Given the description of an element on the screen output the (x, y) to click on. 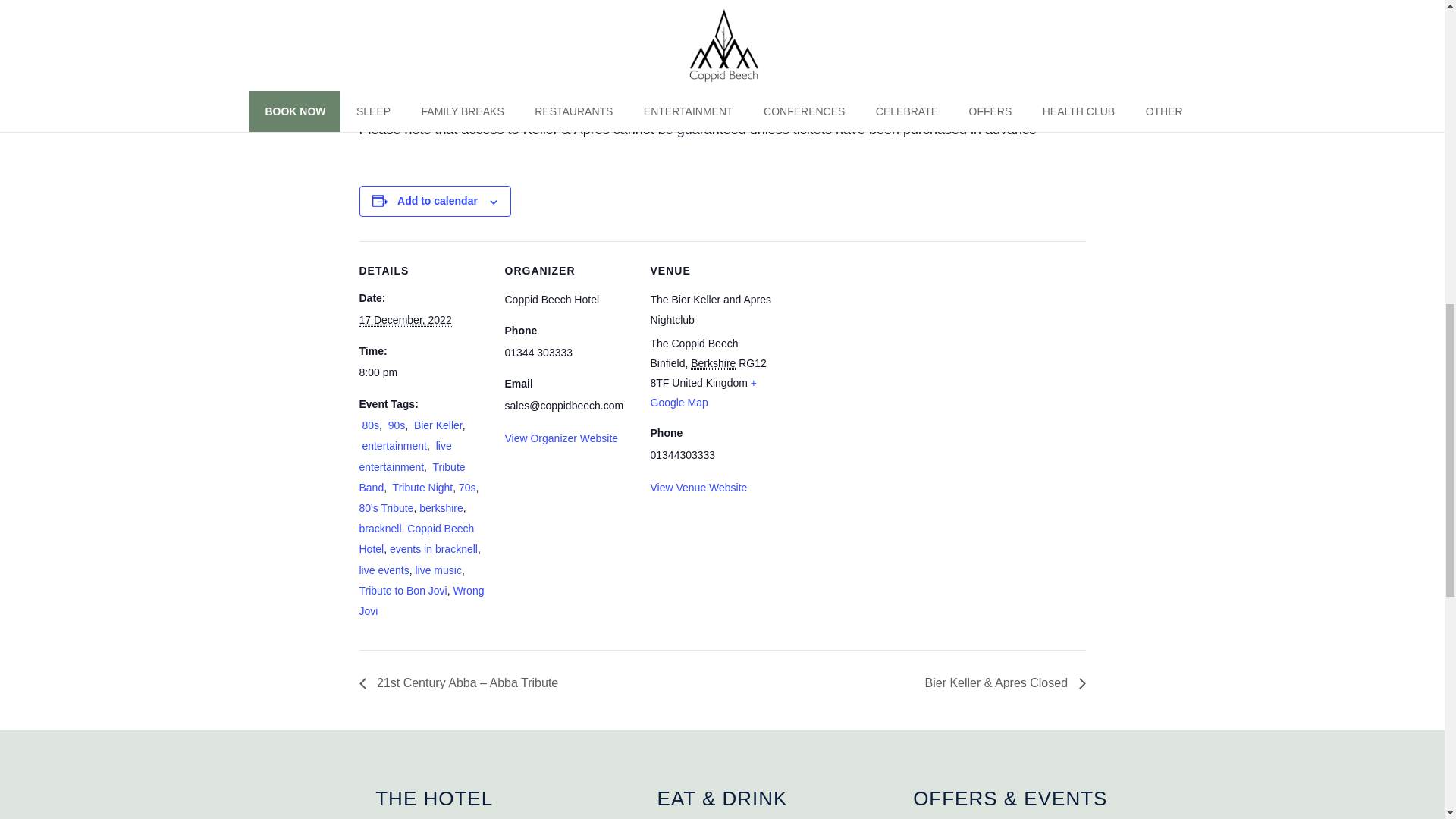
2022-12-17 (422, 372)
Berkshire (712, 363)
Click to view a Google Map (703, 392)
2022-12-17 (405, 319)
